Given the description of an element on the screen output the (x, y) to click on. 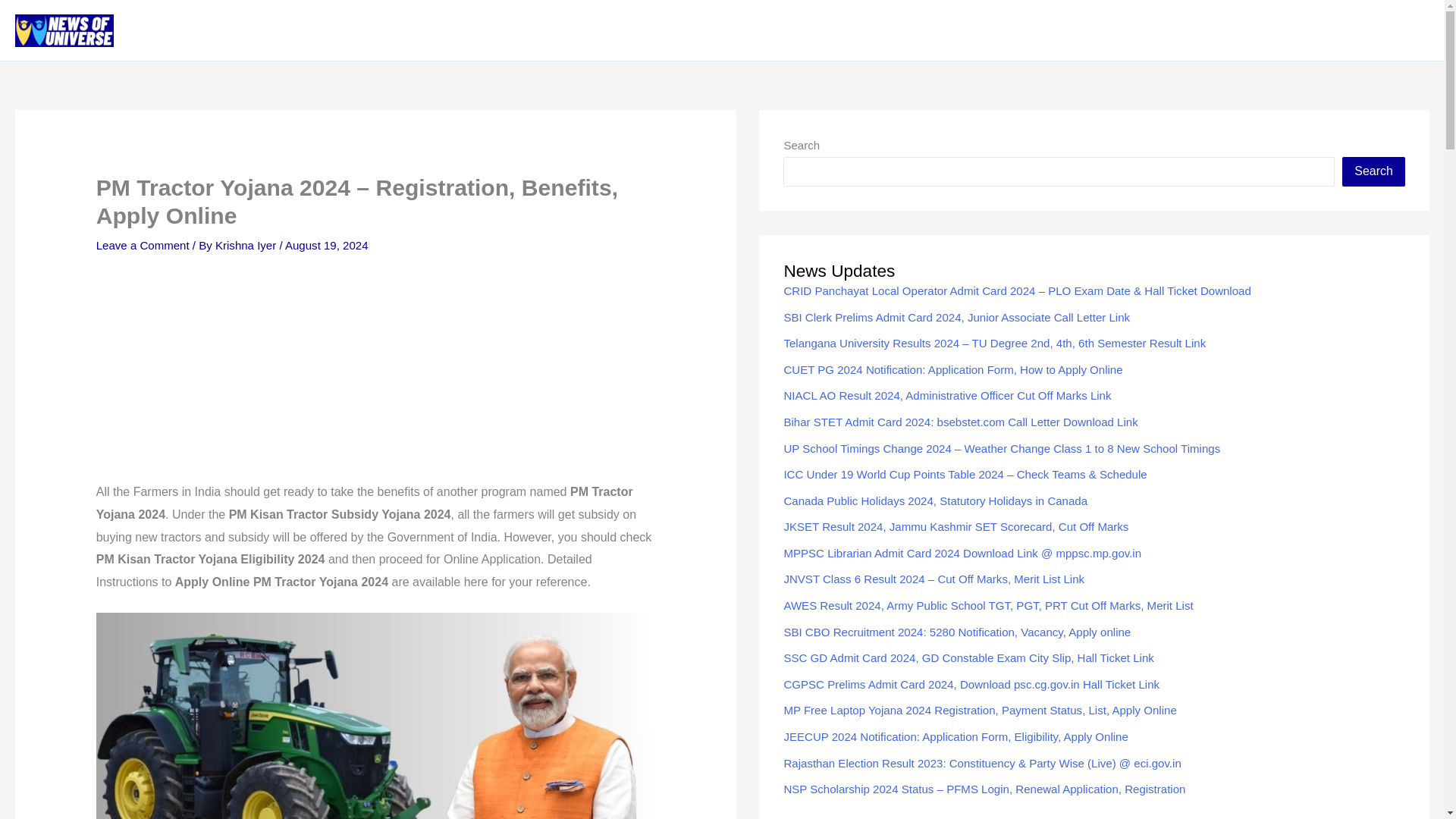
Leave a Comment (142, 245)
Time Table (1387, 30)
Contact (1169, 30)
Result (1316, 30)
View all posts by Krishna Iyer (247, 245)
Krishna Iyer (247, 245)
About Us (999, 30)
Privacy Policy (1086, 30)
Admit Card (1244, 30)
Home (933, 30)
